Given the description of an element on the screen output the (x, y) to click on. 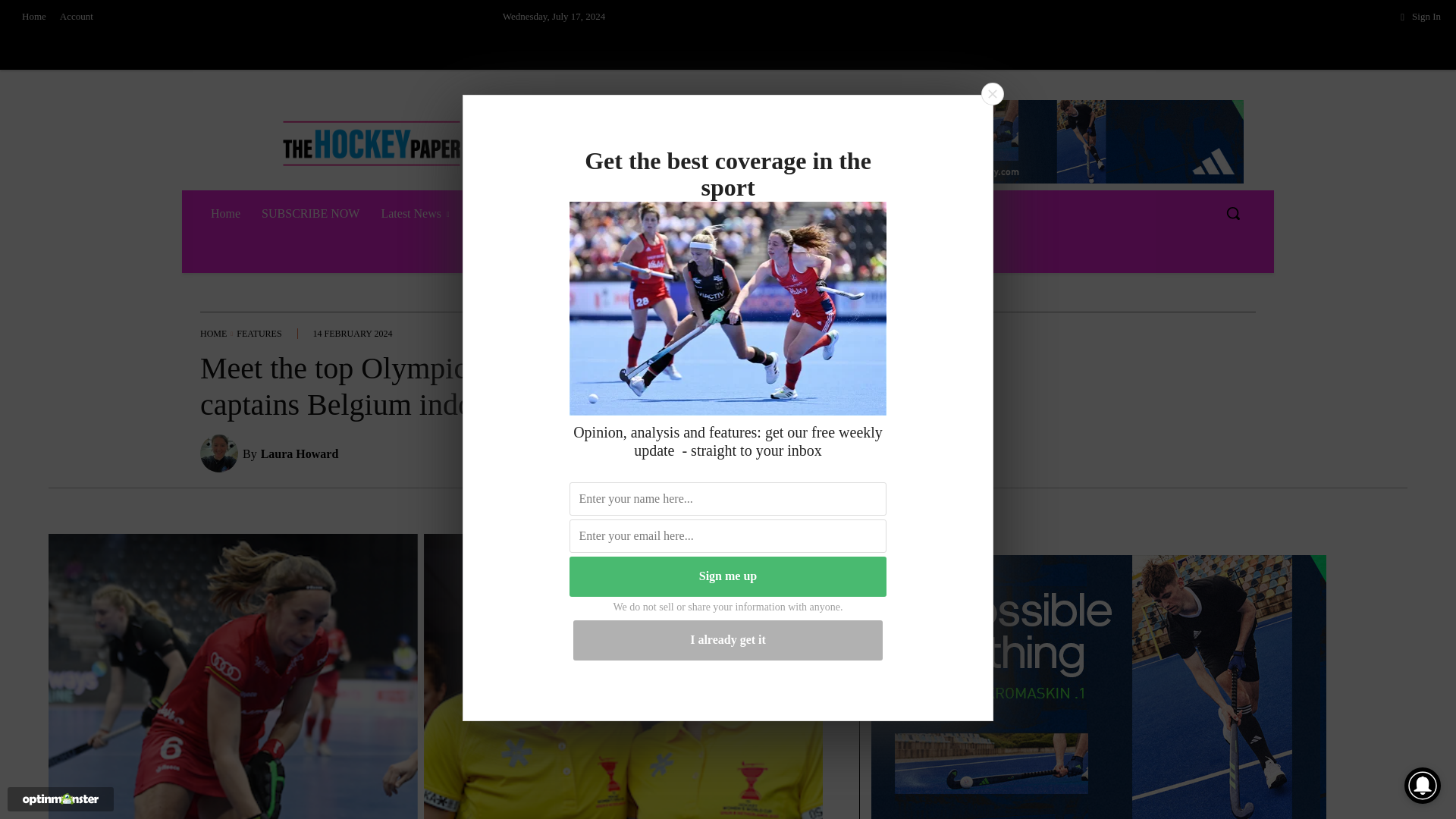
Account (76, 16)
Home (33, 16)
